Given the description of an element on the screen output the (x, y) to click on. 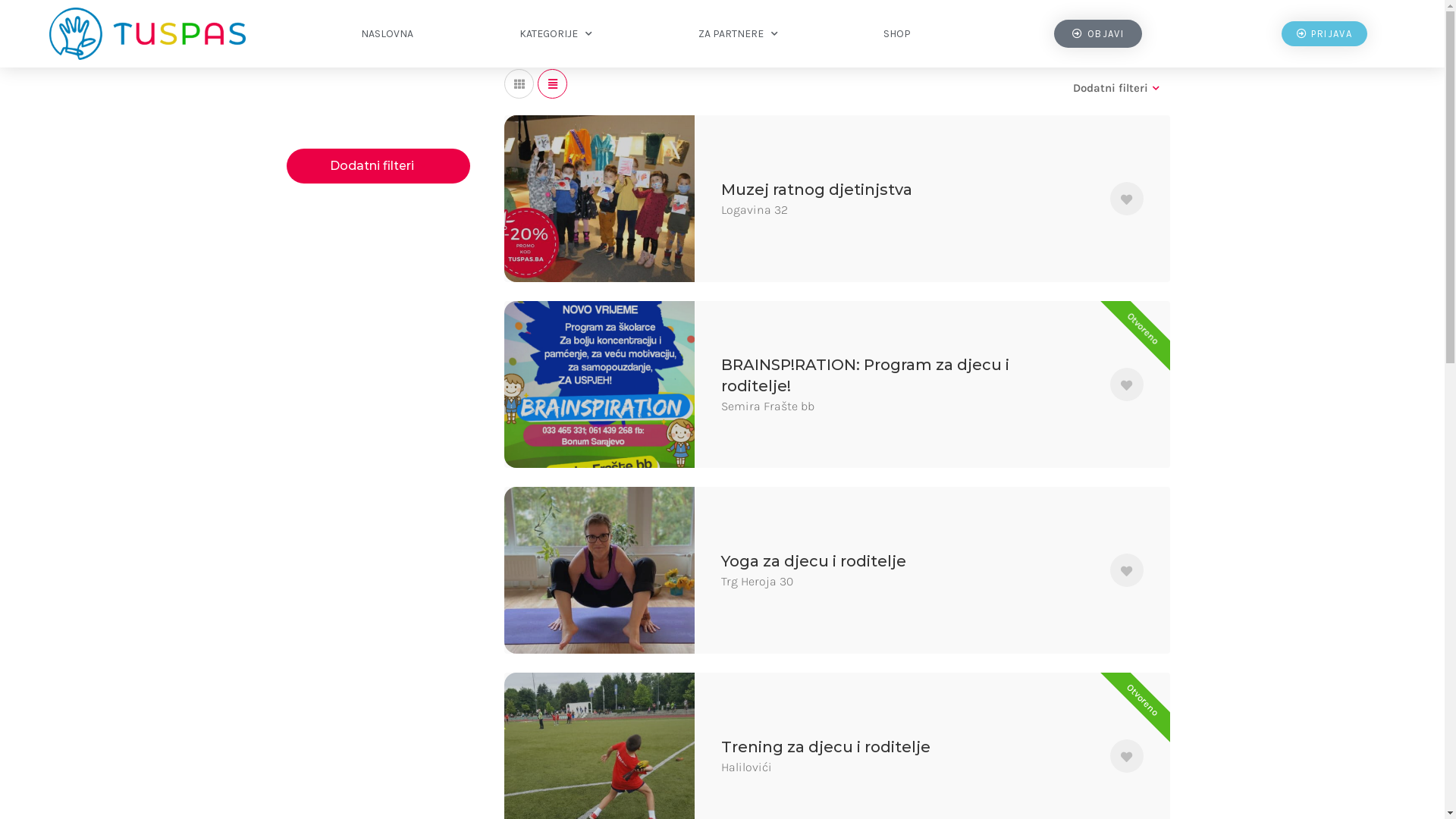
OBJAVI Element type: text (1098, 33)
PRIJAVA Element type: text (1324, 33)
ZA PARTNERE Element type: text (737, 33)
KATEGORIJE Element type: text (555, 33)
SHOP Element type: text (897, 33)
Dodatni filteri Element type: text (1115, 88)
Muzej ratnog djetinjstva
Logavina 32 Element type: text (837, 198)
NASLOVNA Element type: text (387, 33)
Yoga za djecu i roditelje
Trg Heroja 30 Element type: text (837, 569)
